Given the description of an element on the screen output the (x, y) to click on. 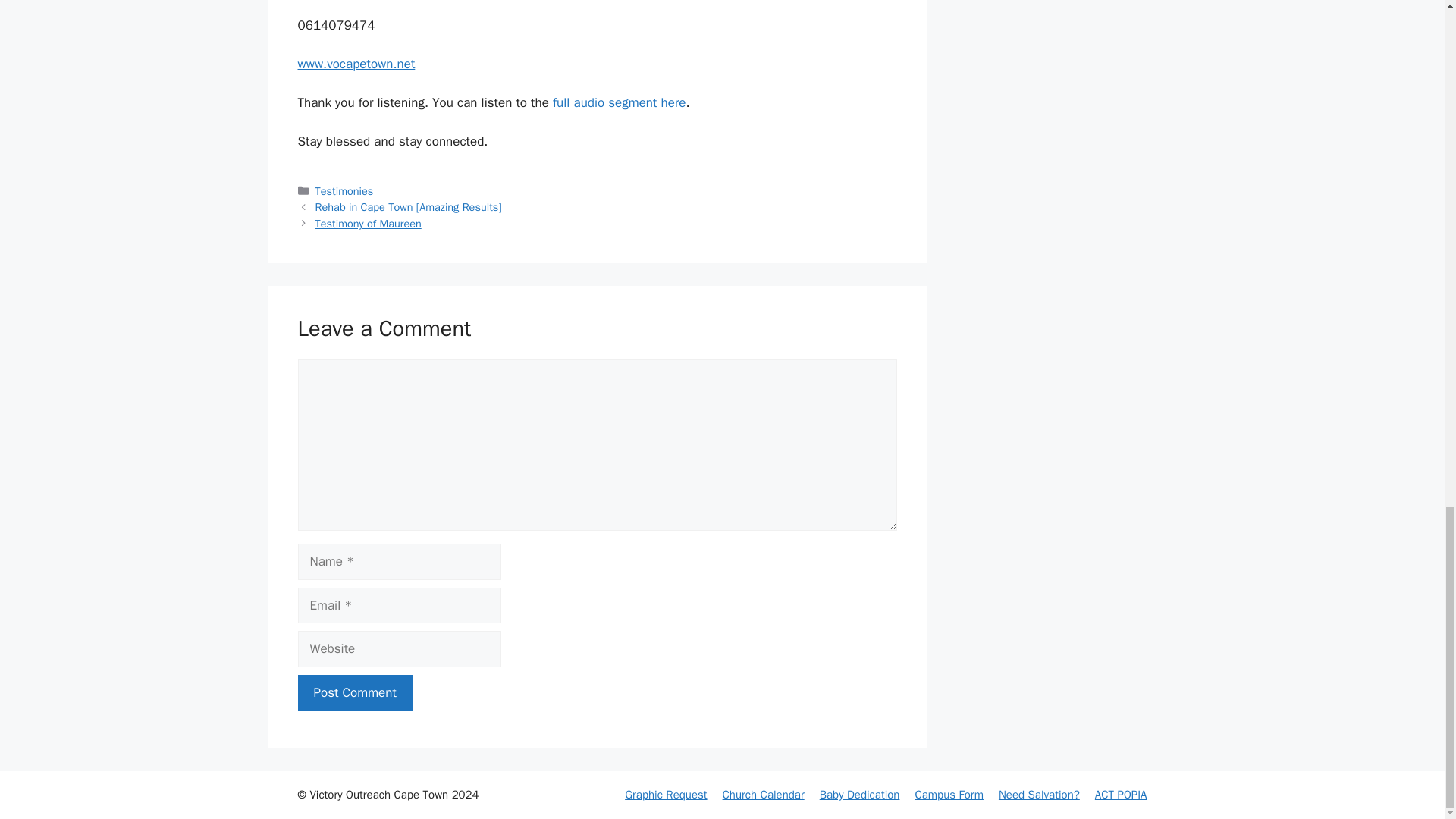
Testimonies (344, 191)
Post Comment (354, 692)
Post Comment (354, 692)
www.vocapetown.net (355, 64)
Testimony of Maureen (368, 223)
full audio segment here (619, 102)
